Given the description of an element on the screen output the (x, y) to click on. 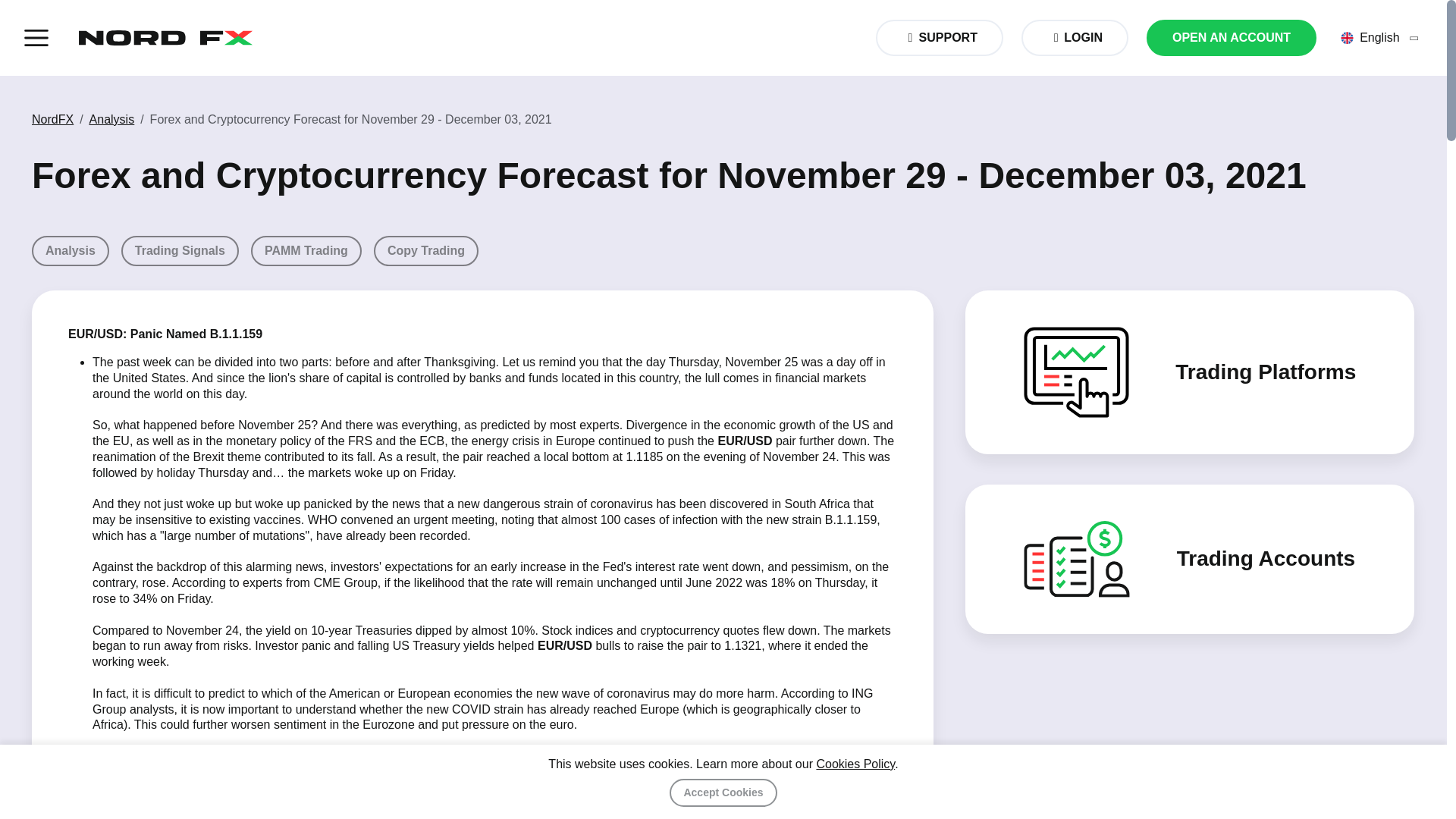
OPEN AN ACCOUNT (1231, 37)
SUPPORT (723, 250)
LOGIN (939, 37)
